Given the description of an element on the screen output the (x, y) to click on. 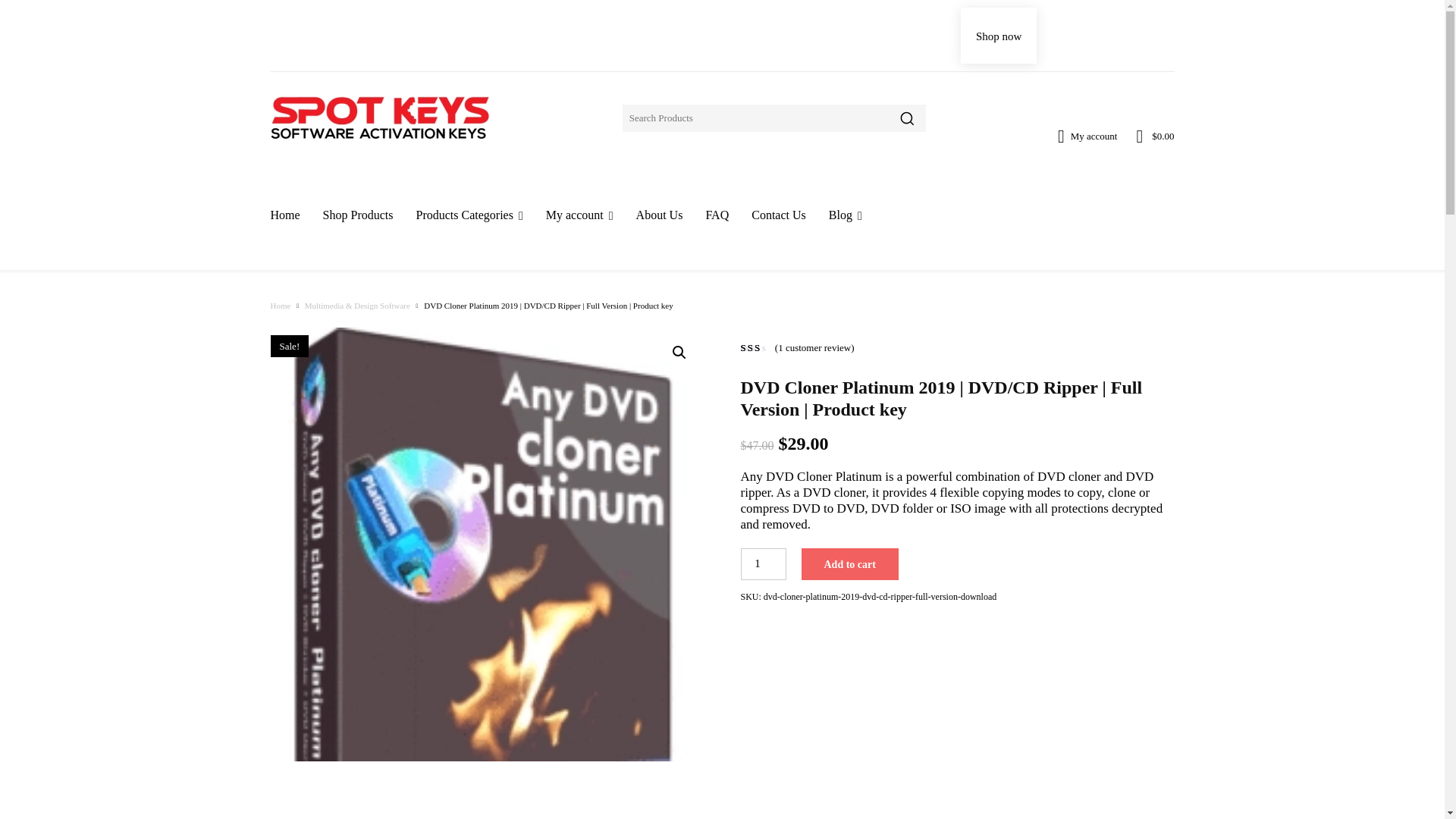
Shop Products (358, 215)
1 (762, 563)
Shop now (998, 35)
Products Categories (469, 215)
Shop now (998, 35)
